Given the description of an element on the screen output the (x, y) to click on. 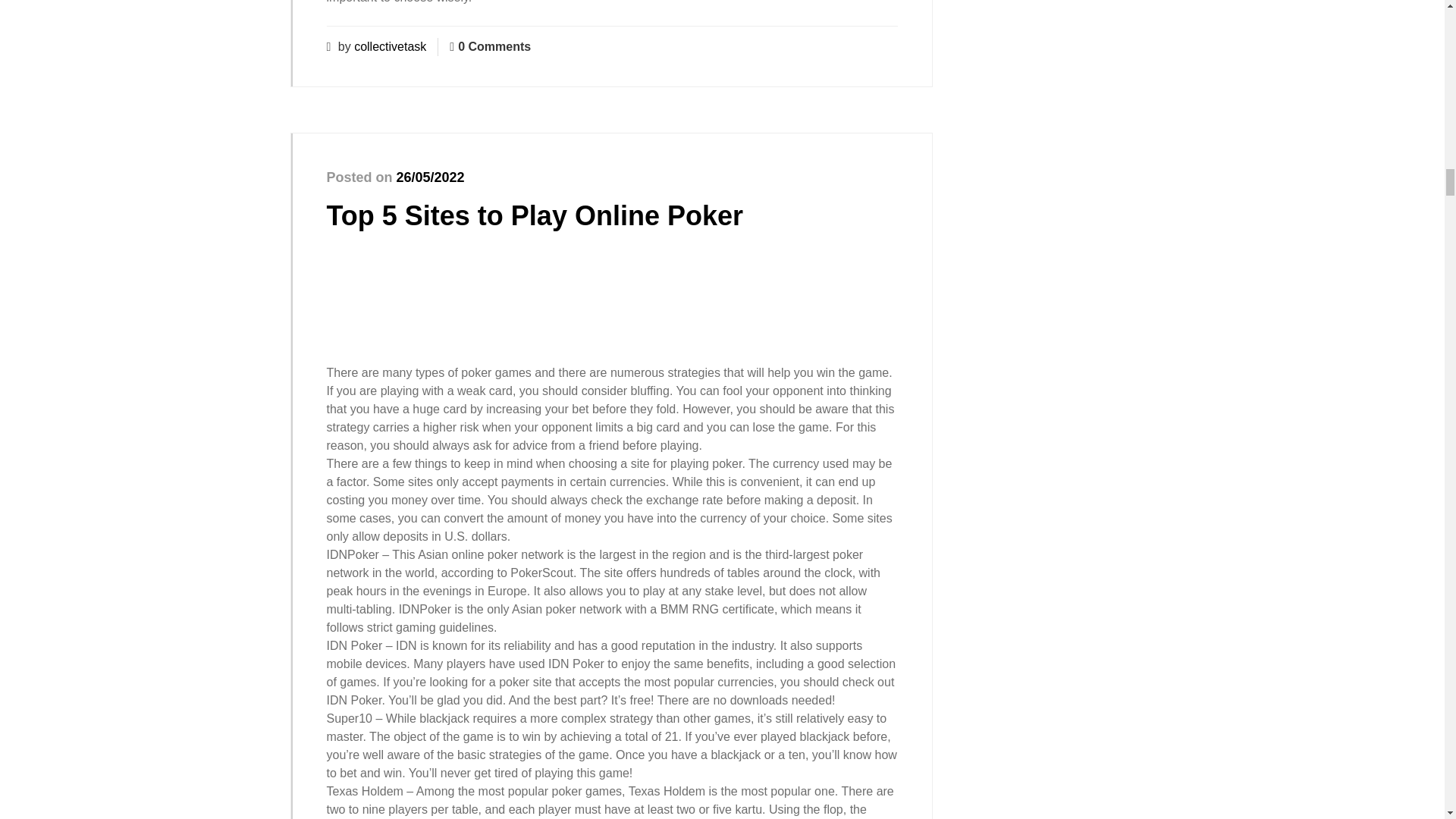
Top 5 Sites to Play Online Poker (534, 214)
collectivetask (389, 46)
